Given the description of an element on the screen output the (x, y) to click on. 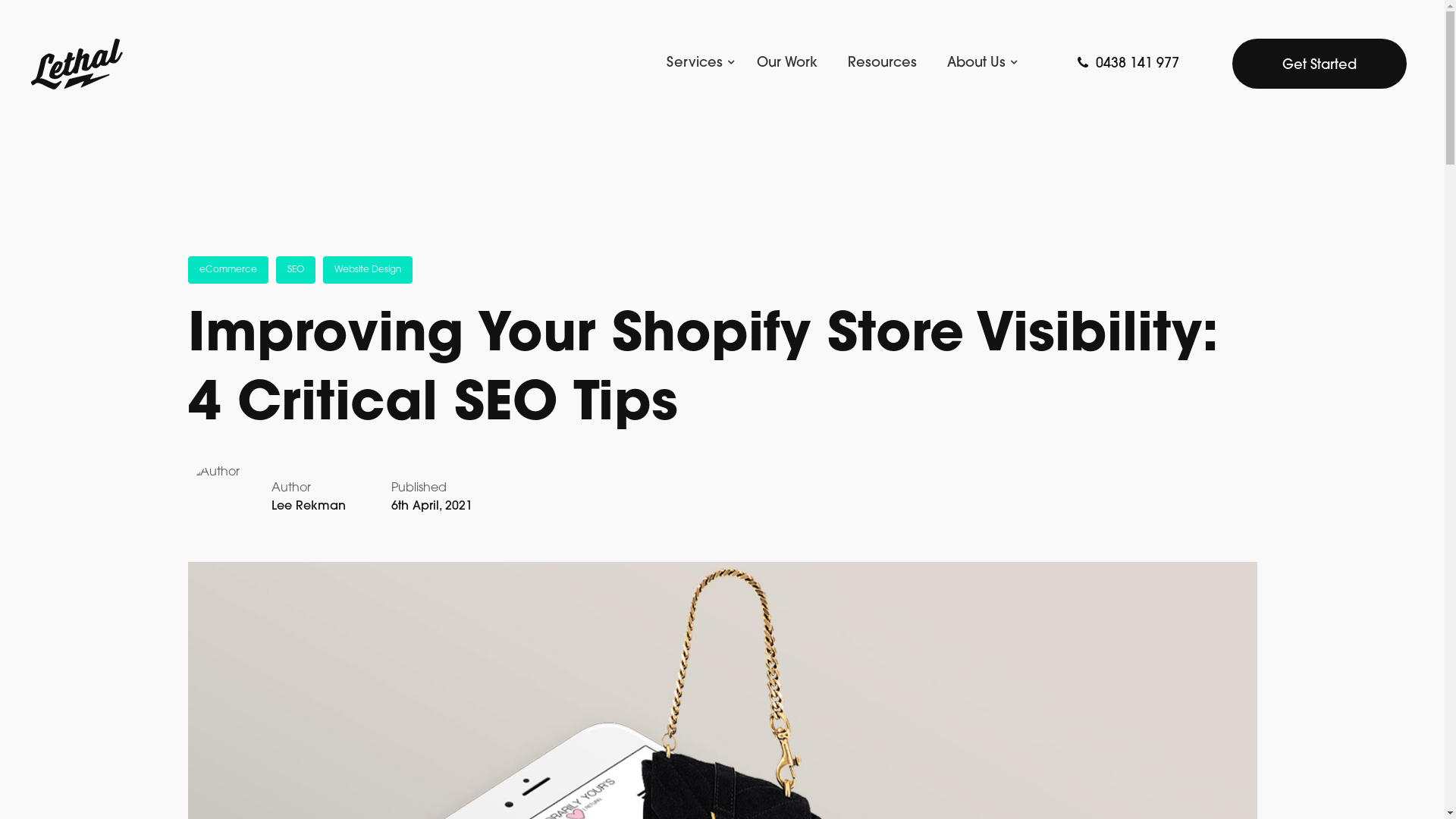
Services Element type: text (703, 63)
Resources Element type: text (881, 63)
Our Work Element type: text (786, 63)
0438 141 977 Element type: text (1128, 63)
About Us Element type: text (977, 63)
Get Started Element type: text (1319, 63)
